Given the description of an element on the screen output the (x, y) to click on. 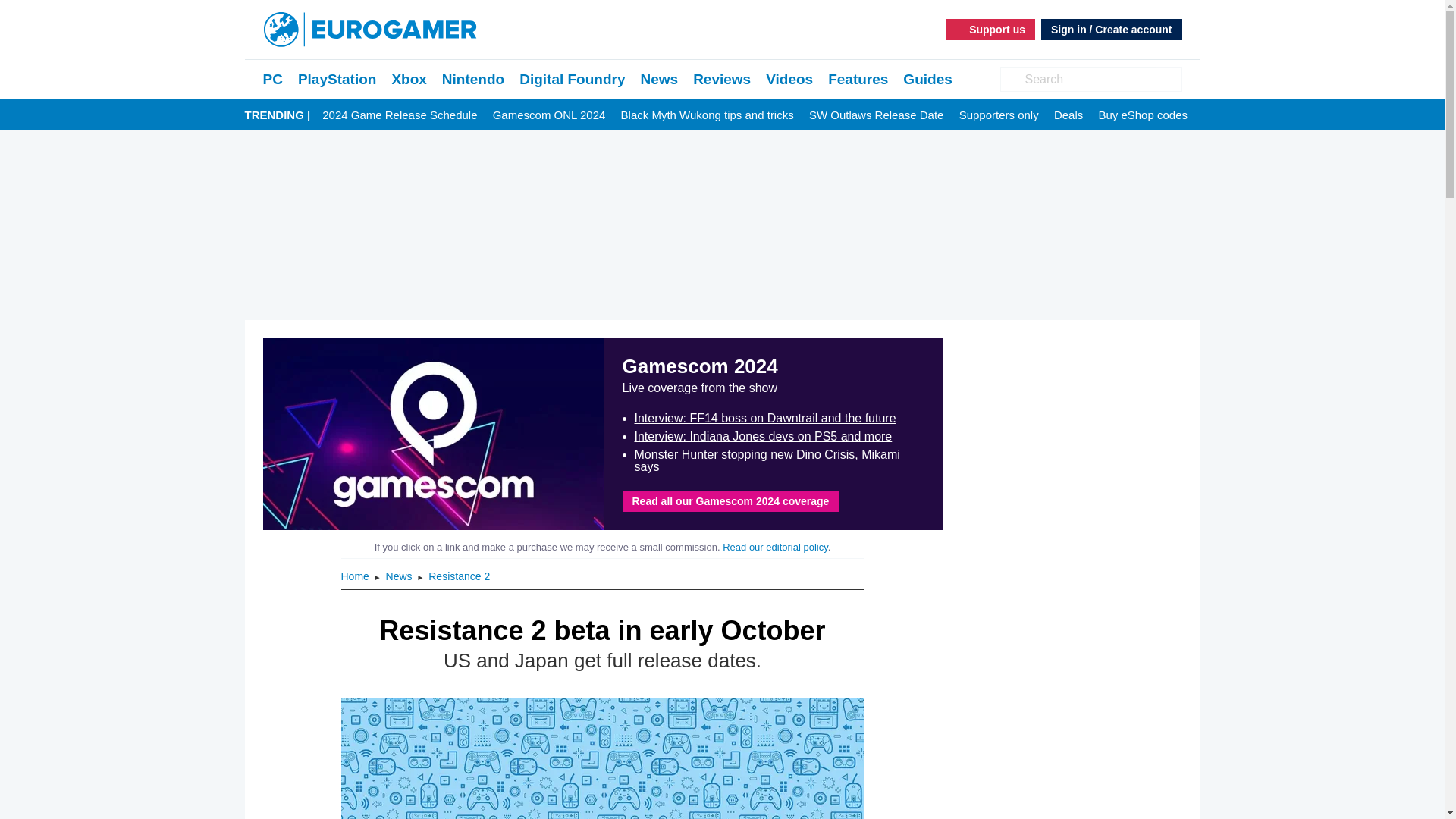
Features (858, 78)
Buy eShop codes (1142, 114)
Interview: Indiana Jones devs on PS5 and more (762, 436)
Gamescom 2024 (433, 433)
Guides (927, 78)
Home (356, 576)
Guides (927, 78)
Black Myth Wukong tips and tricks (707, 114)
PlayStation (336, 78)
Home (356, 576)
